Given the description of an element on the screen output the (x, y) to click on. 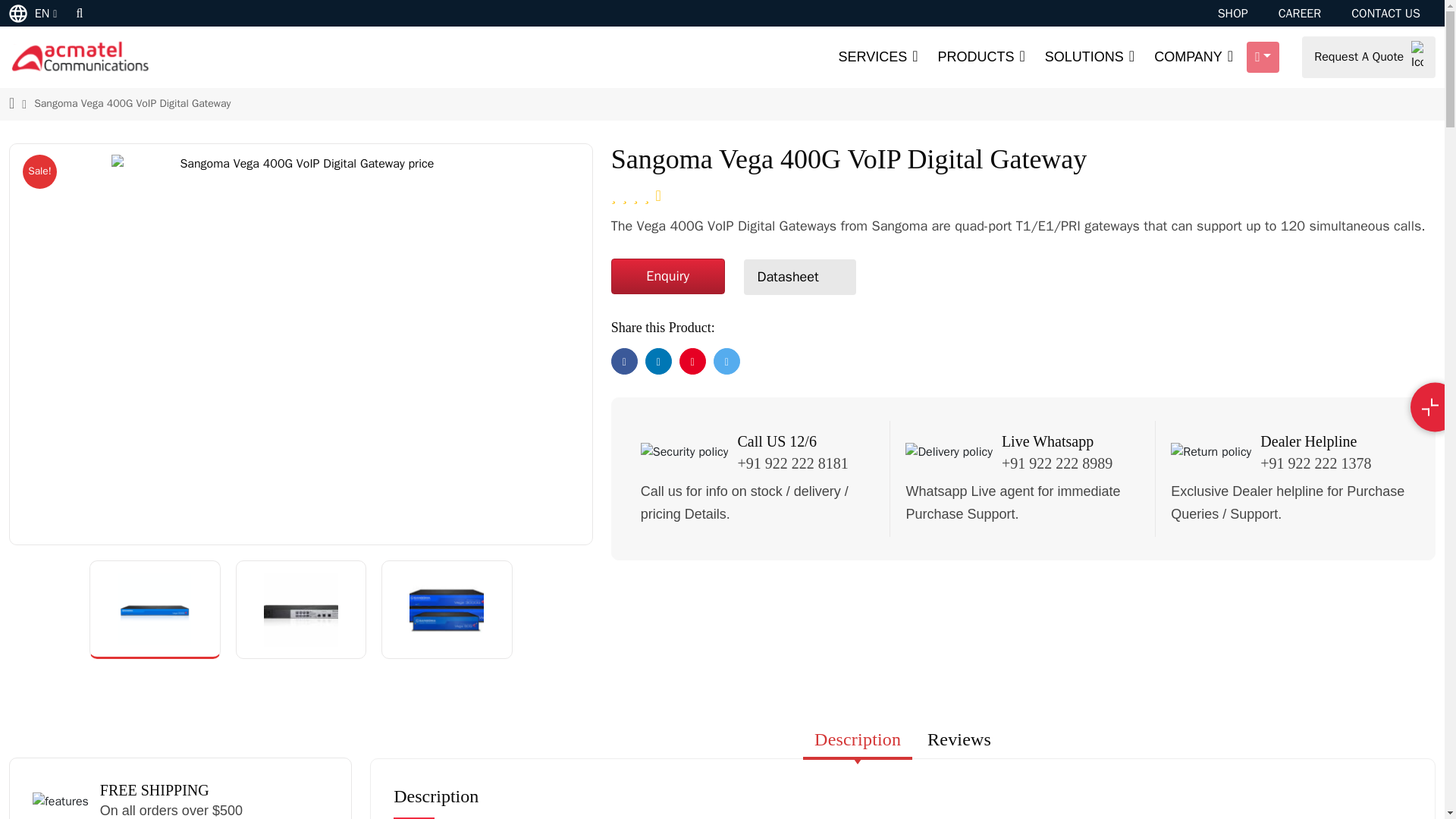
Share on LinkedIn (658, 361)
Tweet (726, 361)
SHOP (1232, 13)
EN (34, 12)
Pin it (692, 361)
CONTACT US (1386, 13)
SERVICES (877, 56)
CAREER (1300, 13)
